Given the description of an element on the screen output the (x, y) to click on. 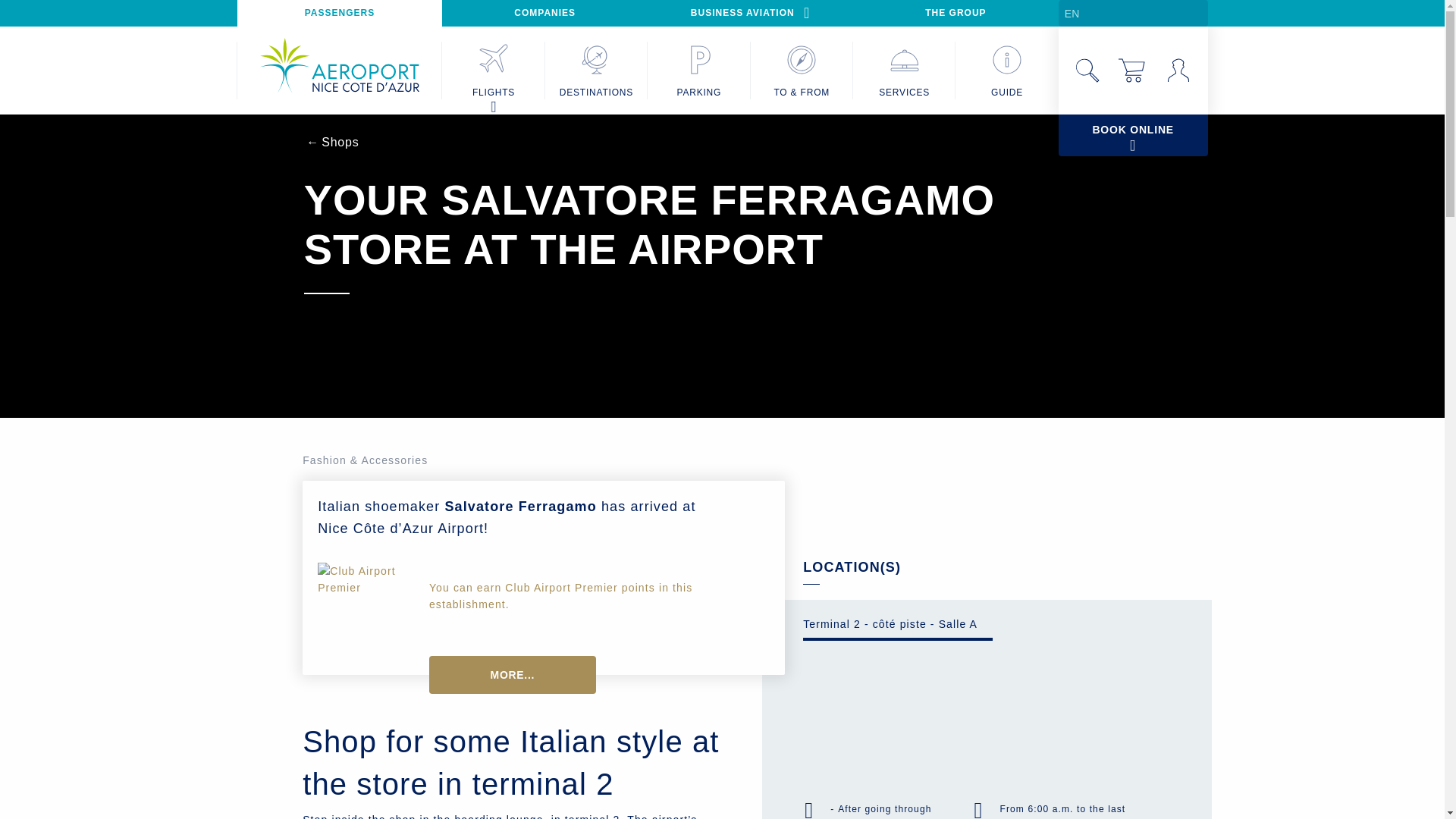
Basket (1132, 69)
AIRPORT GOLFE DE SAINT-TROPEZ (925, 13)
GUIDE (1006, 70)
THE GROUP (955, 13)
PASSENGERS (338, 13)
PARKING (698, 70)
AIRPORT CANNES MANDELIEU (634, 13)
BUSINESS AVIATION (750, 13)
COMPANIES (544, 13)
FLIGHTS (493, 70)
SKY VALET (1143, 13)
DESTINATIONS (595, 70)
Sign in (1178, 69)
SERVICES (904, 70)
Search (1086, 69)
